Given the description of an element on the screen output the (x, y) to click on. 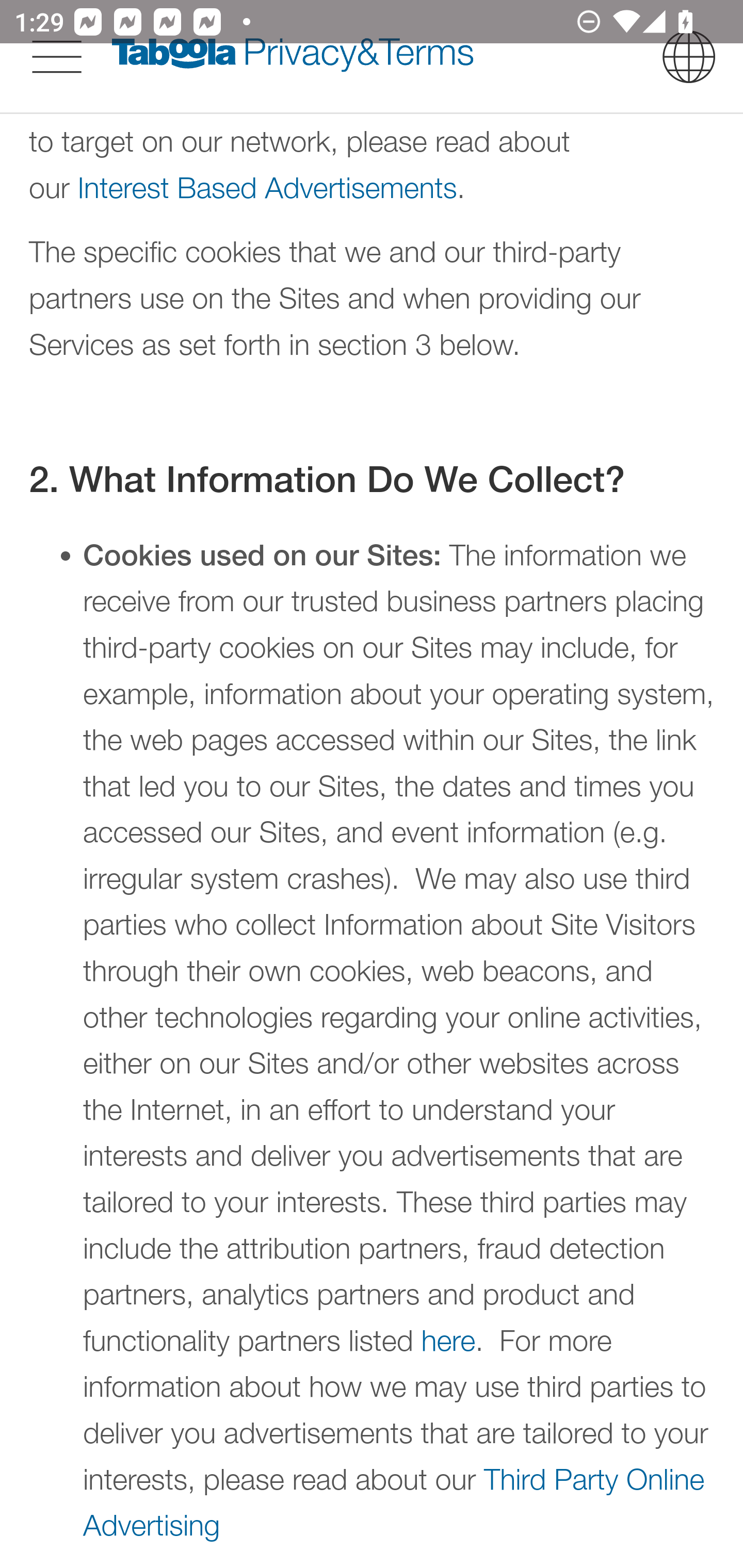
Taboola Privacy & Terms Logo (292, 56)
English (688, 56)
Interest Based Advertisements (266, 187)
here (448, 1341)
Third Party Online Advertising (394, 1502)
